Given the description of an element on the screen output the (x, y) to click on. 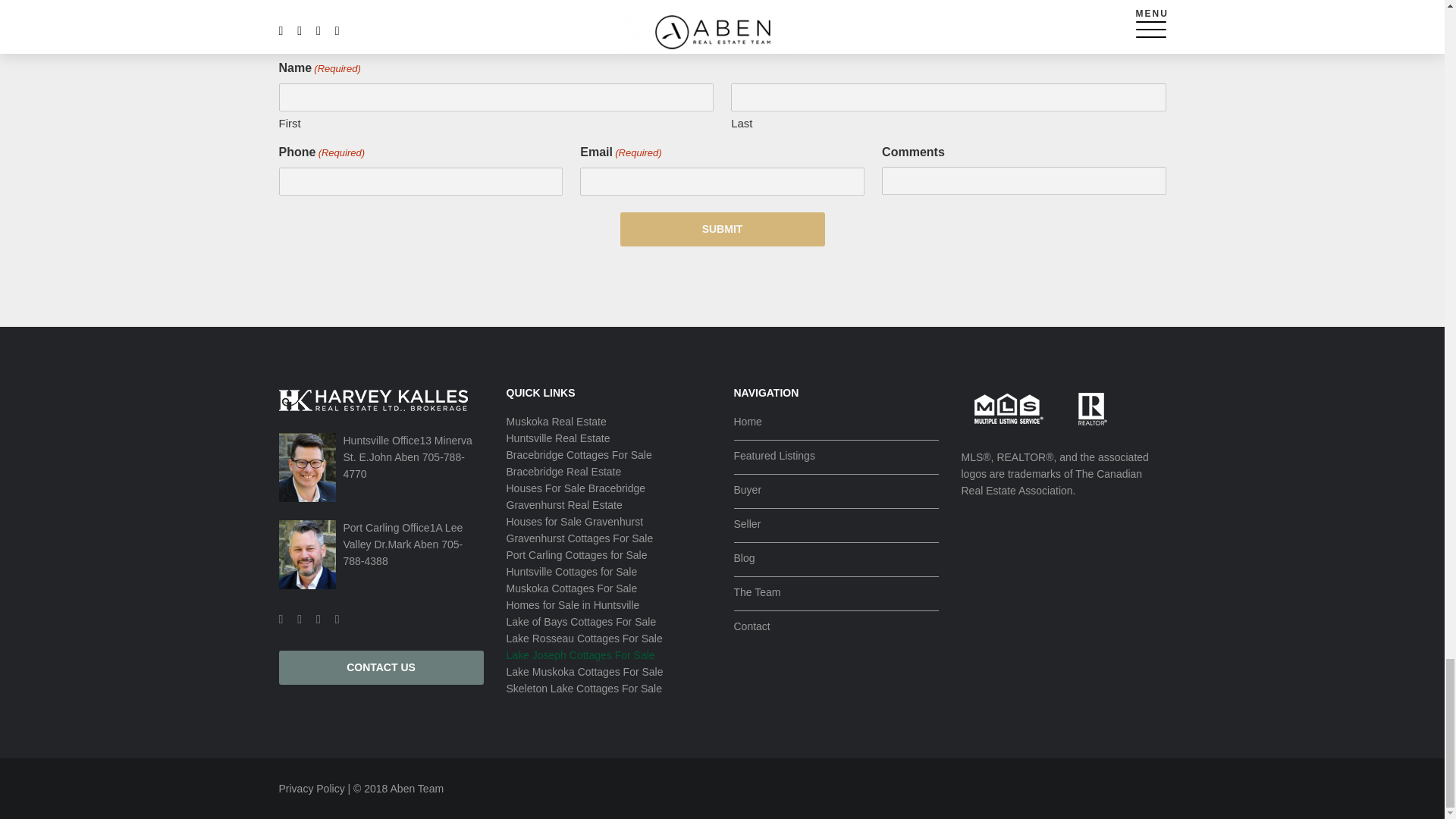
Submit (722, 229)
